Given the description of an element on the screen output the (x, y) to click on. 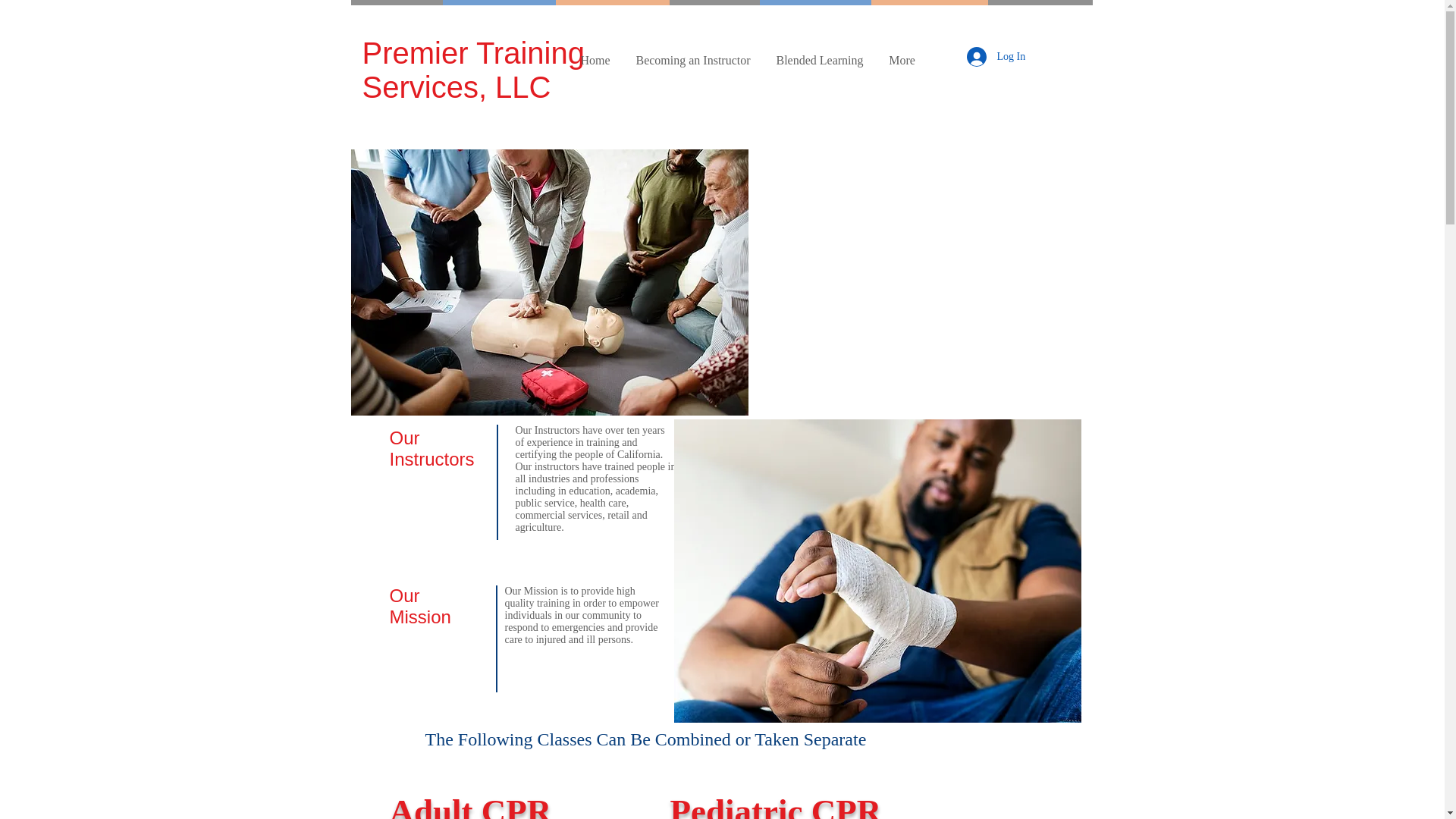
Premier Training Services, LLC (473, 70)
Log In (990, 56)
Blended Learning (819, 60)
Home (595, 60)
Becoming an Instructor (692, 60)
277-pom-8860-jj.jpg (876, 570)
